Given the description of an element on the screen output the (x, y) to click on. 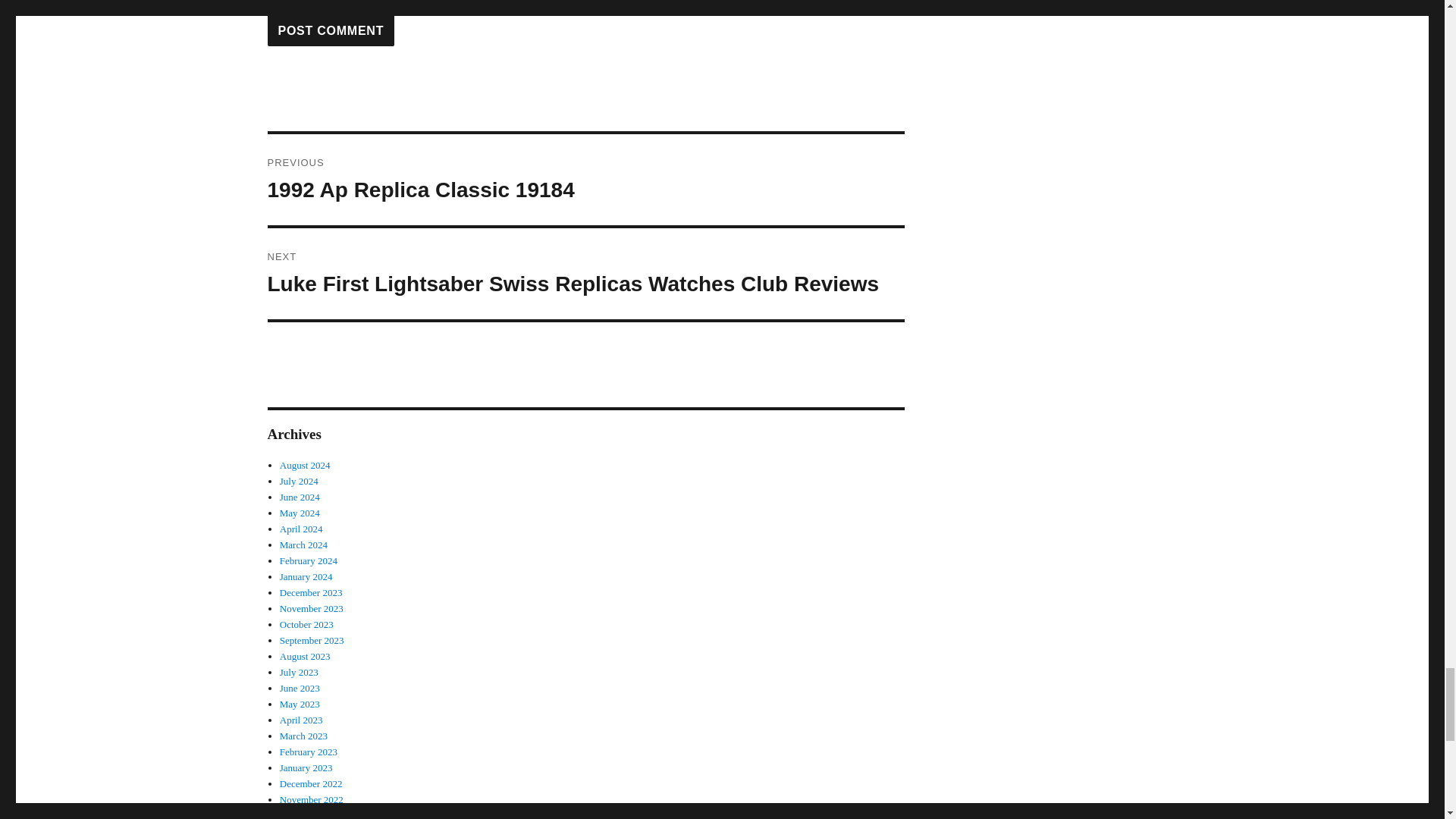
June 2023 (299, 687)
November 2023 (311, 608)
March 2023 (585, 179)
April 2023 (303, 736)
October 2022 (301, 719)
February 2024 (306, 814)
November 2022 (308, 560)
December 2023 (311, 799)
